Given the description of an element on the screen output the (x, y) to click on. 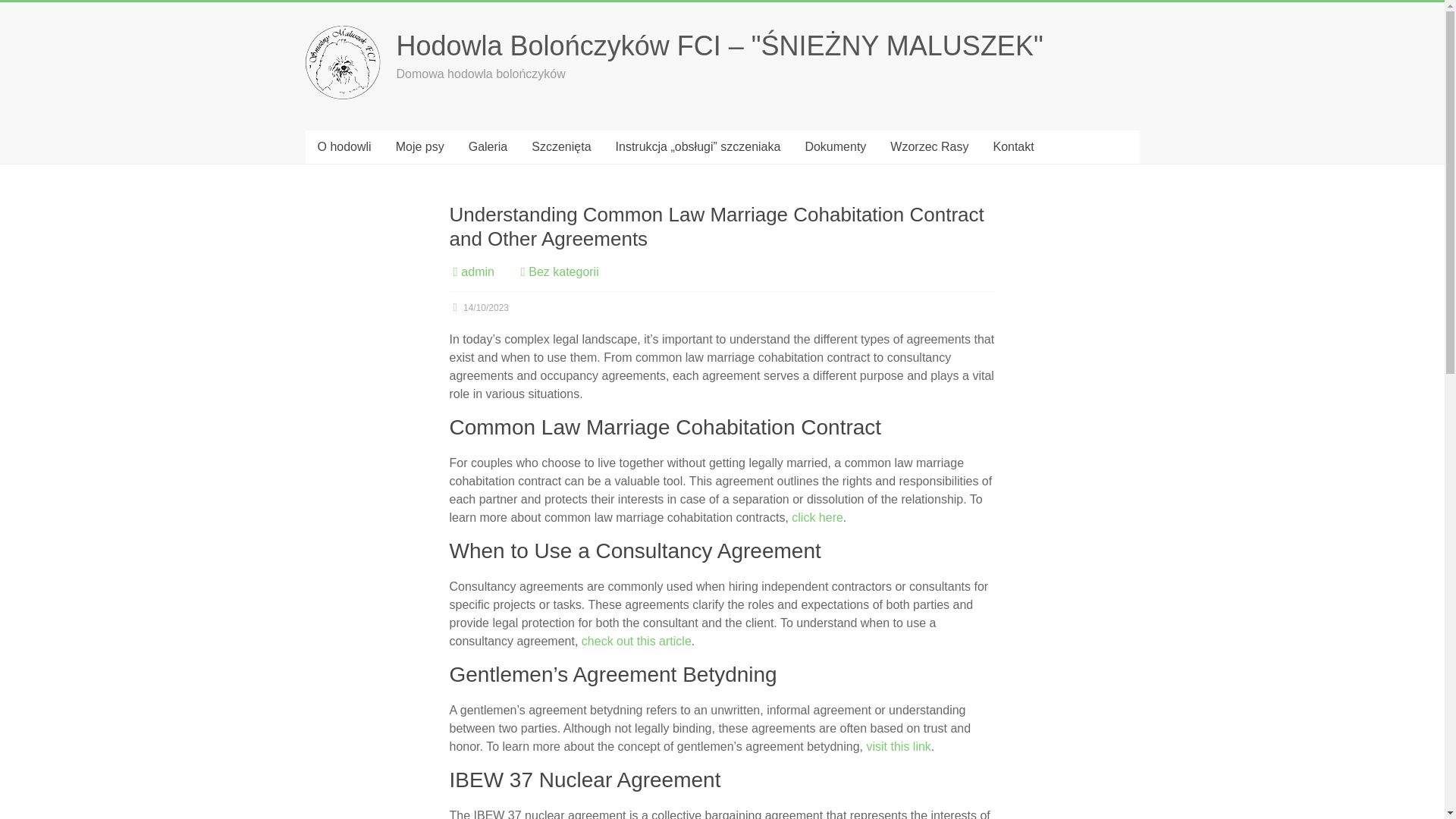
Wzorzec Rasy (928, 146)
admin (478, 271)
Moje psy (420, 146)
visit this link (898, 746)
Bez kategorii (563, 271)
Dokumenty (834, 146)
Galeria (488, 146)
click here (817, 517)
02:16 (478, 307)
Kontakt (1012, 146)
check out this article (635, 640)
admin (478, 271)
O hodowli (343, 146)
